Given the description of an element on the screen output the (x, y) to click on. 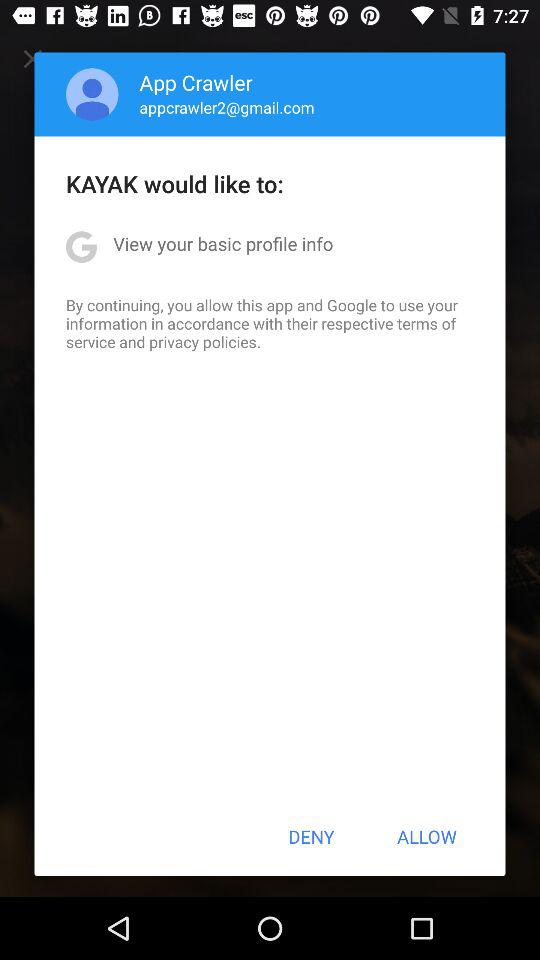
swipe to deny (311, 836)
